Given the description of an element on the screen output the (x, y) to click on. 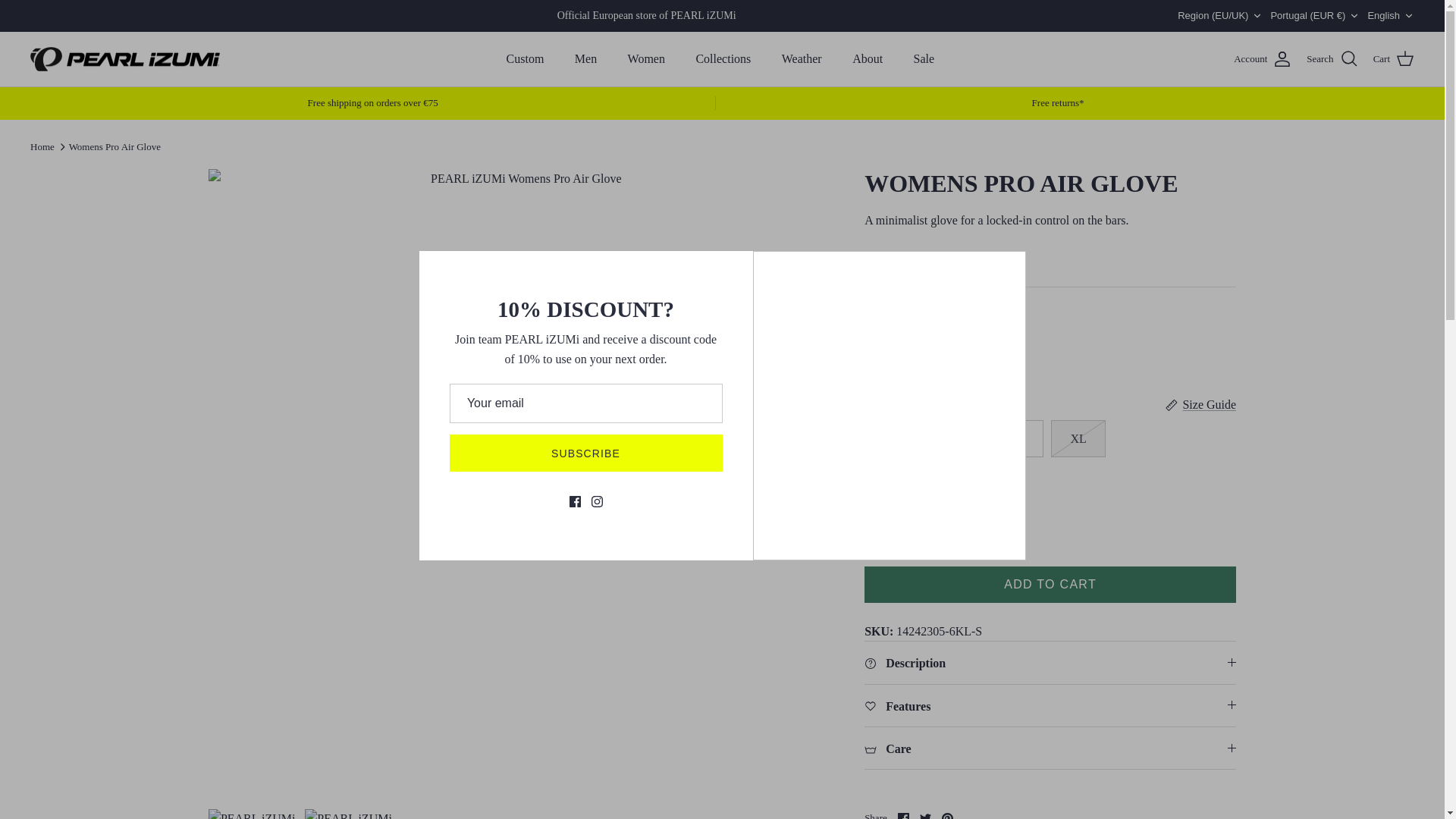
Custom (525, 59)
Facebook (903, 816)
Weather (801, 59)
Down (1257, 15)
About (867, 59)
Minus (882, 517)
Down (1408, 15)
Women (646, 59)
Sale (924, 59)
Pinterest (947, 816)
PEARL iZUMi EU (124, 59)
Plus (969, 517)
Collections (722, 59)
Men (585, 59)
Twitter (925, 816)
